Given the description of an element on the screen output the (x, y) to click on. 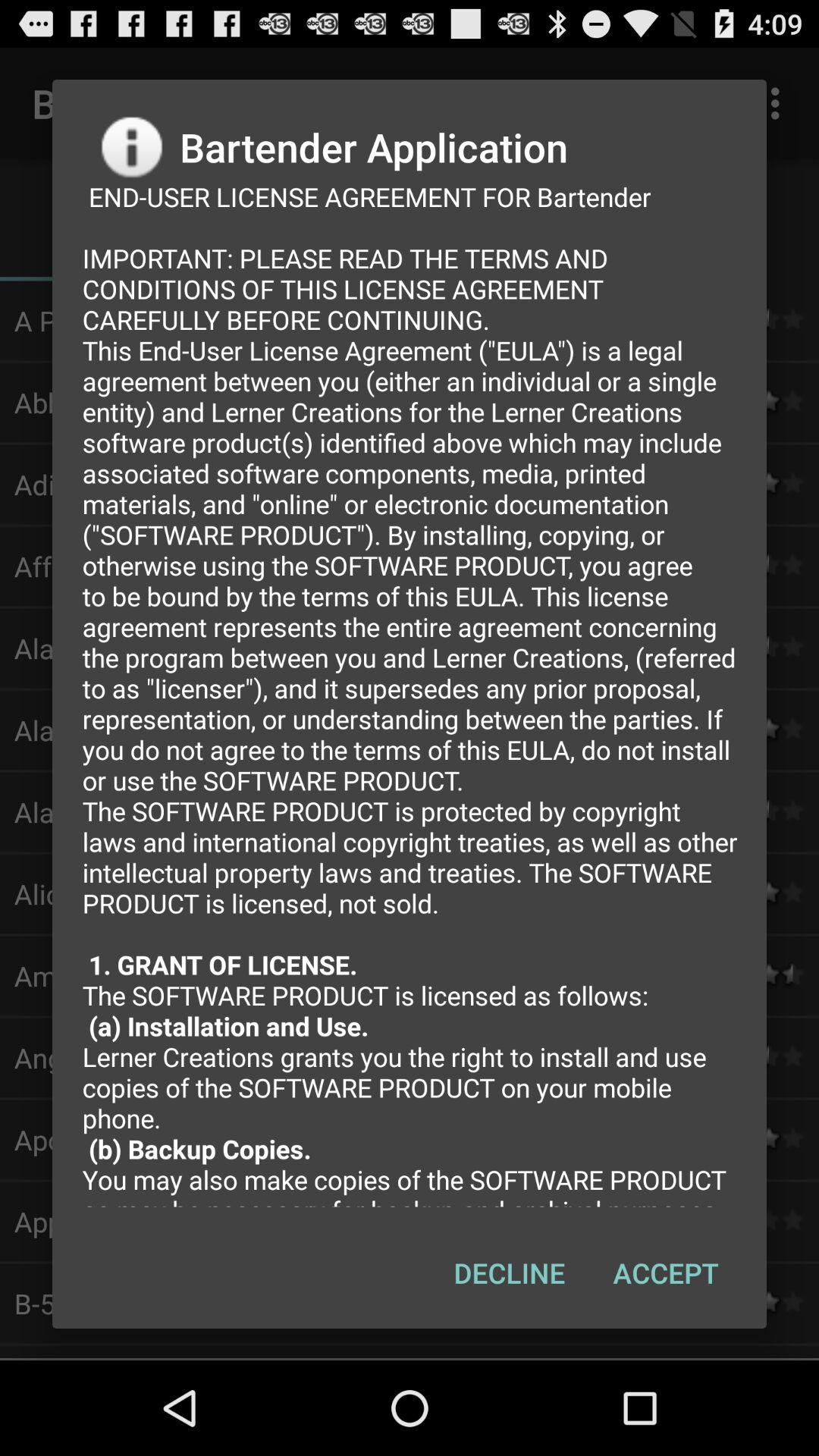
click the item below the end user license (665, 1272)
